Given the description of an element on the screen output the (x, y) to click on. 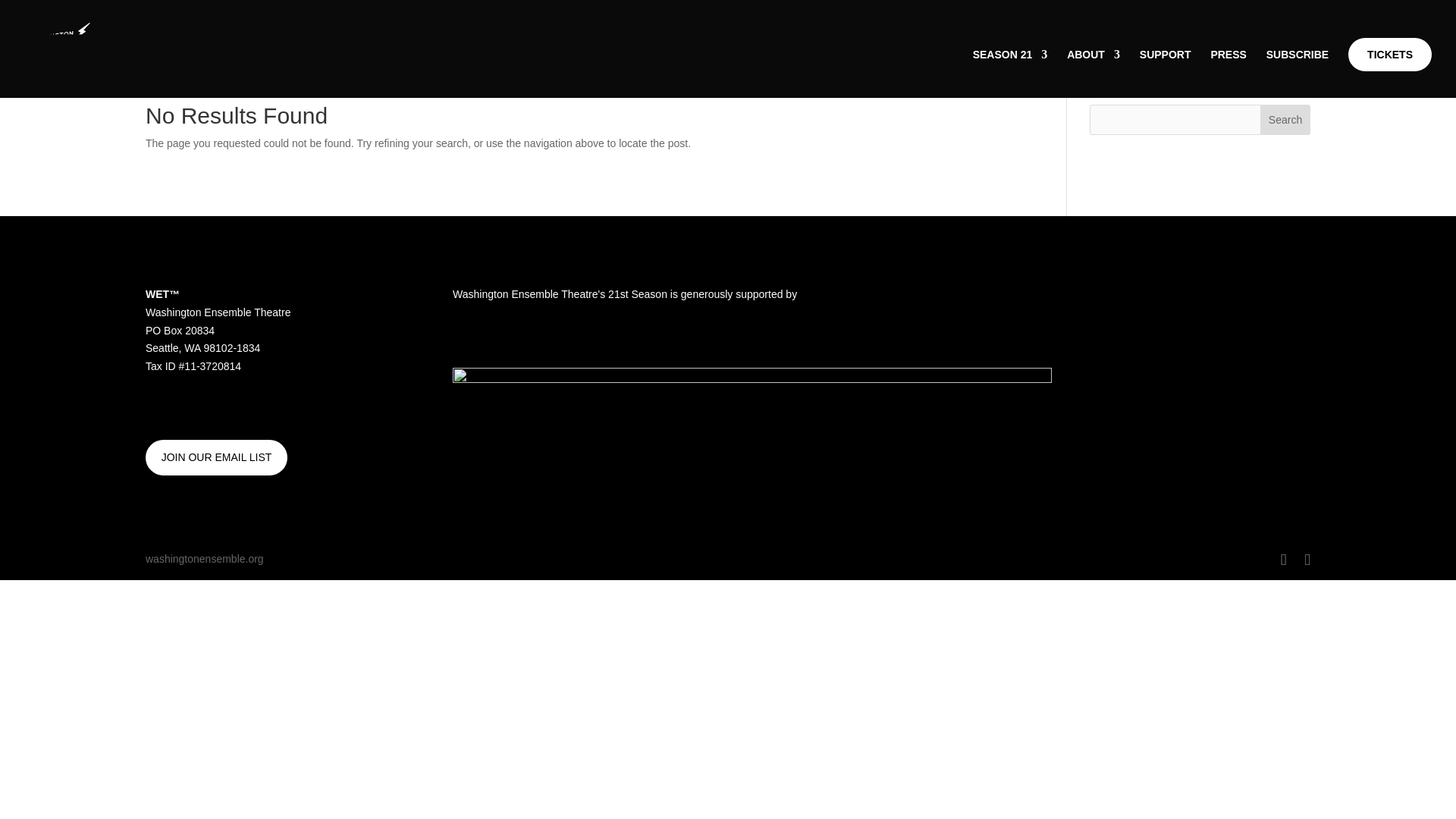
PRESS (1227, 73)
SUPPORT (1165, 73)
SEASON 21 (1010, 73)
JOIN OUR EMAIL LIST (215, 457)
SUBSCRIBE (1296, 73)
TICKETS (1389, 54)
ABOUT (1093, 73)
Search (1285, 119)
